Given the description of an element on the screen output the (x, y) to click on. 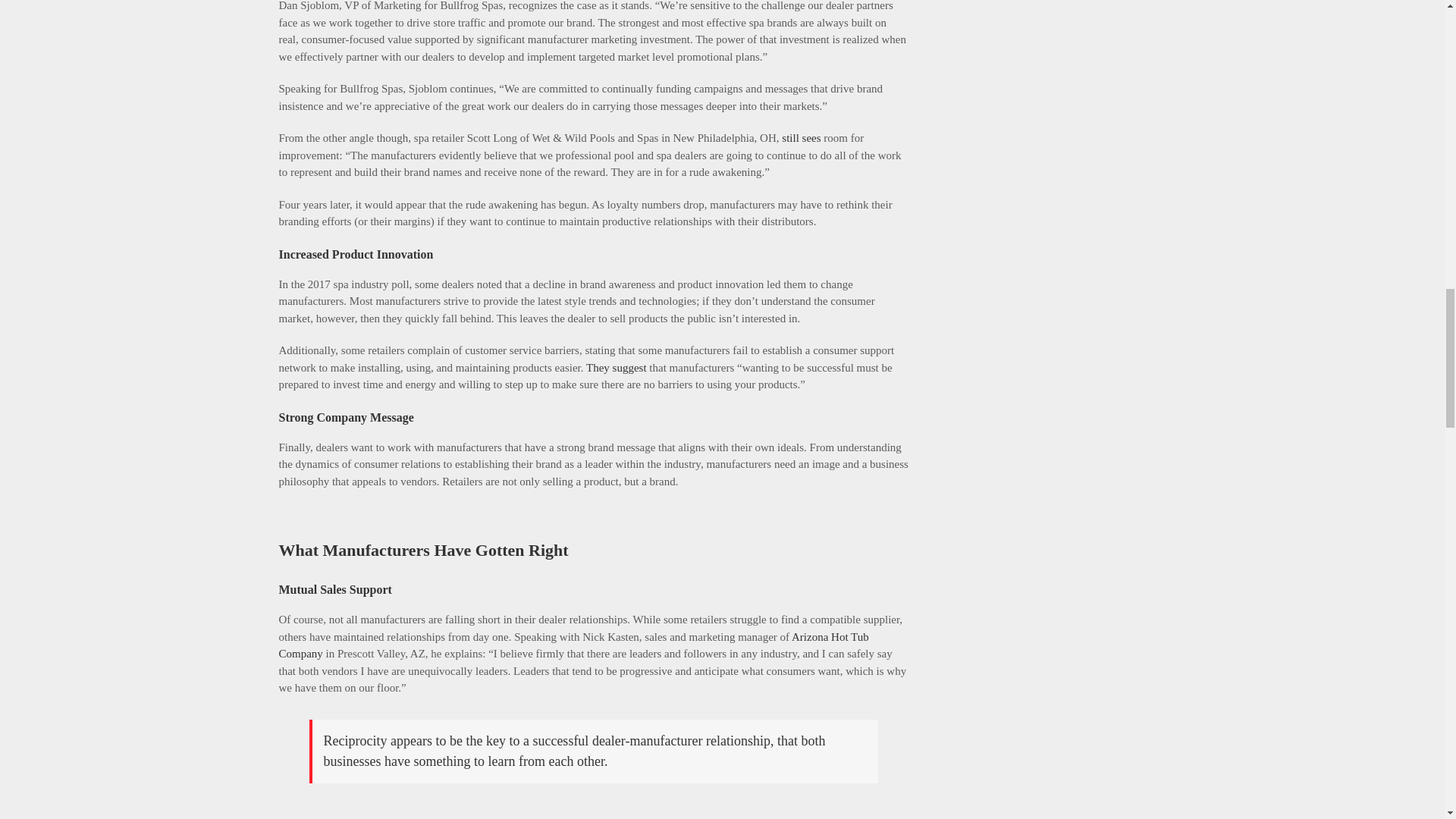
They suggest (616, 367)
still sees (801, 137)
Arizona Hot Tub Company (574, 645)
